Given the description of an element on the screen output the (x, y) to click on. 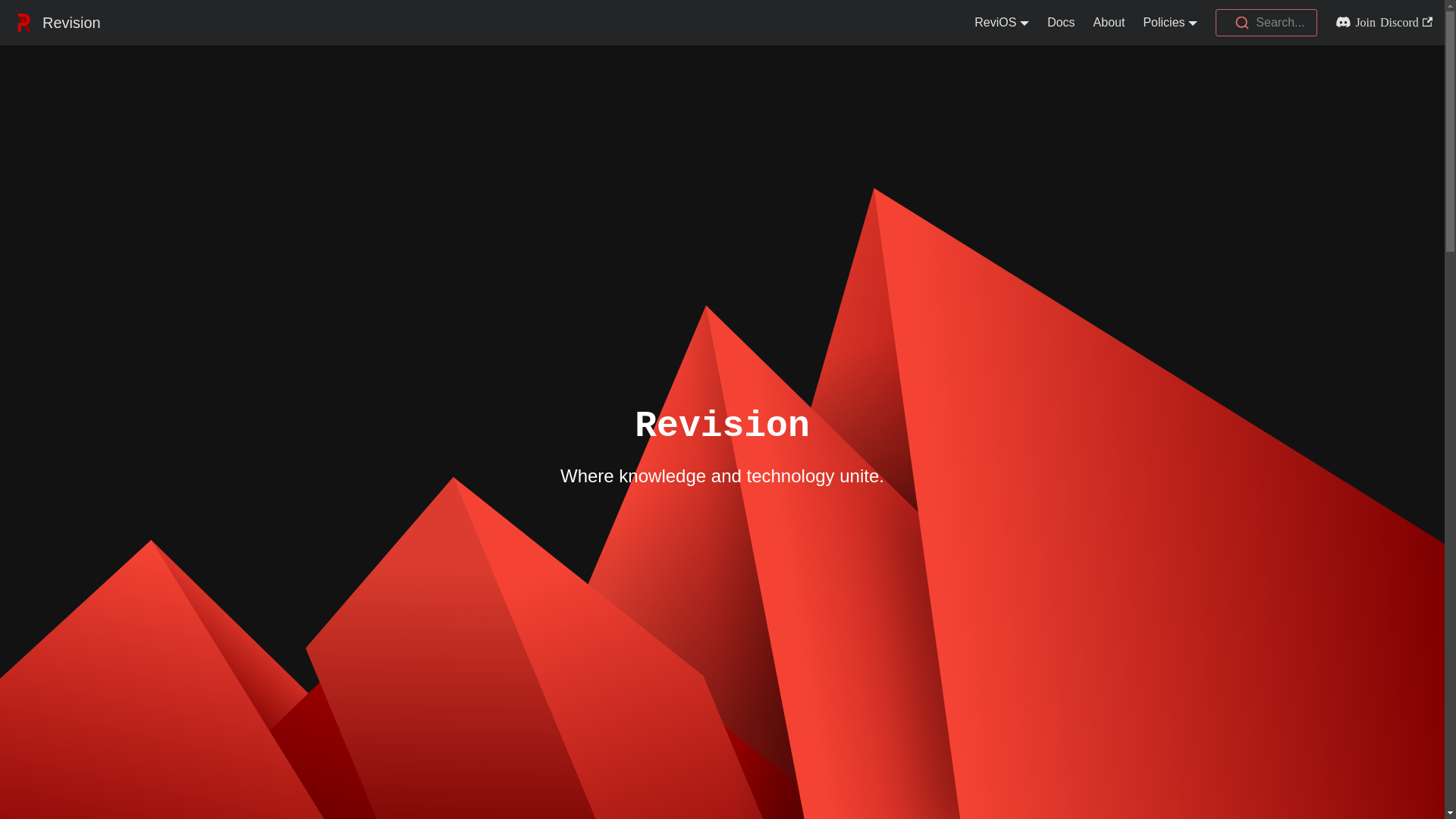
ReviOS Element type: text (1001, 21)
About Element type: text (1109, 22)
Docs Element type: text (1060, 22)
Revision Element type: text (56, 22)
Search... Element type: text (1266, 22)
Join Discord Element type: text (1379, 22)
Policies Element type: text (1169, 21)
